Given the description of an element on the screen output the (x, y) to click on. 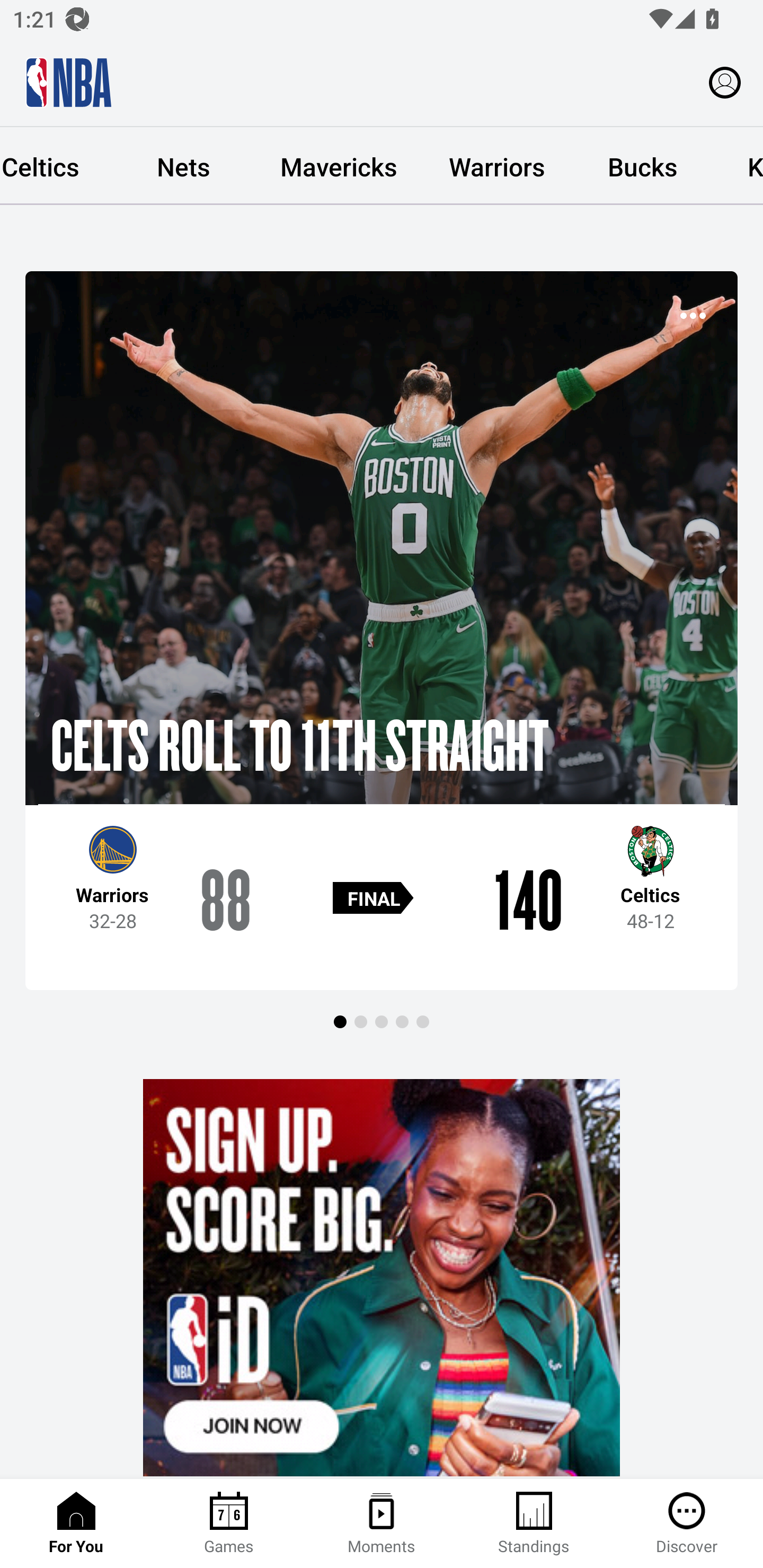
Profile (724, 81)
Celtics (56, 166)
Nets (183, 166)
Mavericks (338, 166)
Warriors (497, 166)
Bucks (642, 166)
Games (228, 1523)
Moments (381, 1523)
Standings (533, 1523)
Discover (686, 1523)
